Given the description of an element on the screen output the (x, y) to click on. 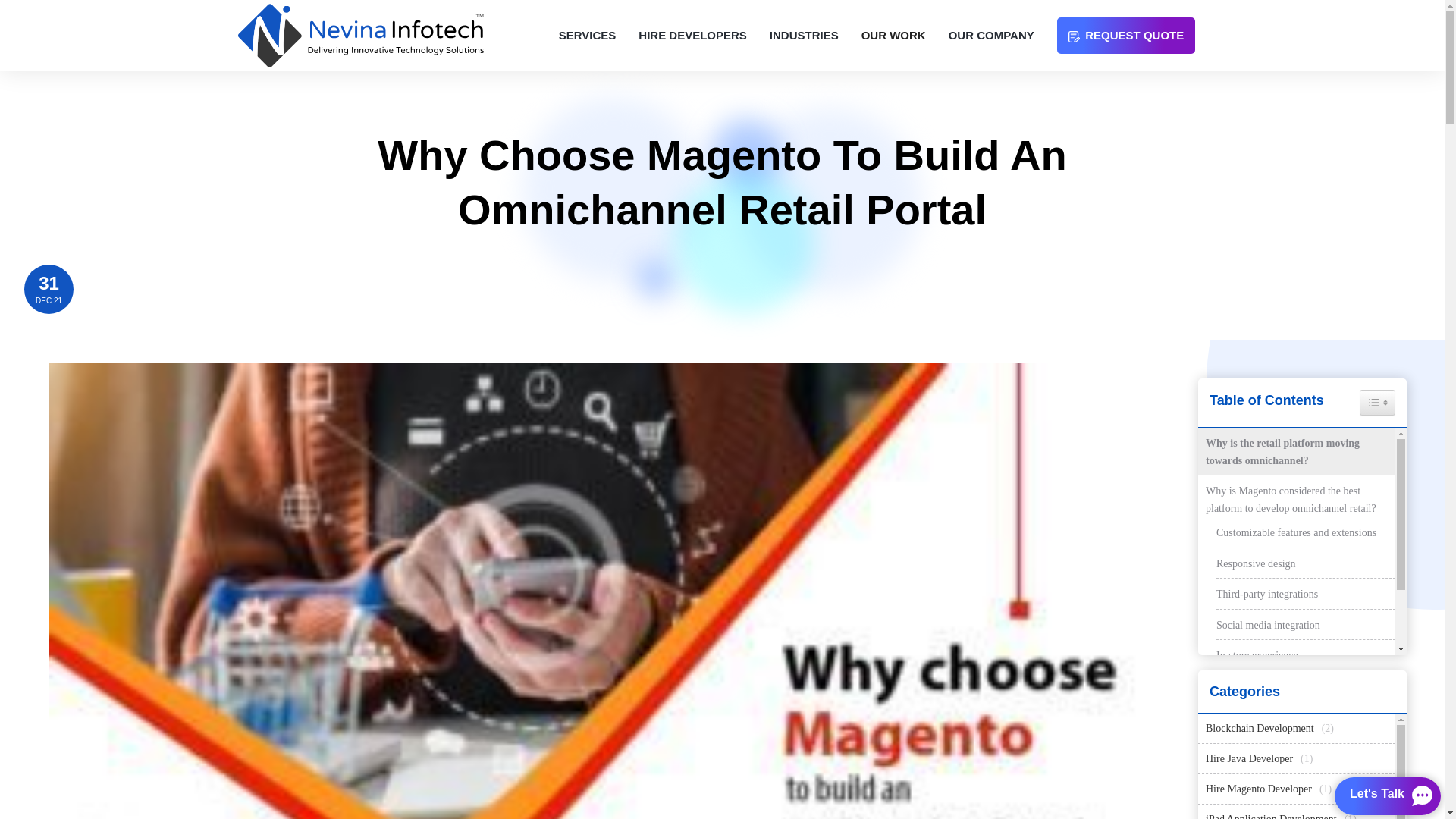
Why is the retail platform moving towards omnichannel? (1296, 451)
Third-party integrations (1266, 594)
Social media integration (1267, 625)
SERVICES (587, 35)
Responsive design (1255, 564)
Customizable features and extensions (1295, 532)
In-store experience (1256, 655)
